Given the description of an element on the screen output the (x, y) to click on. 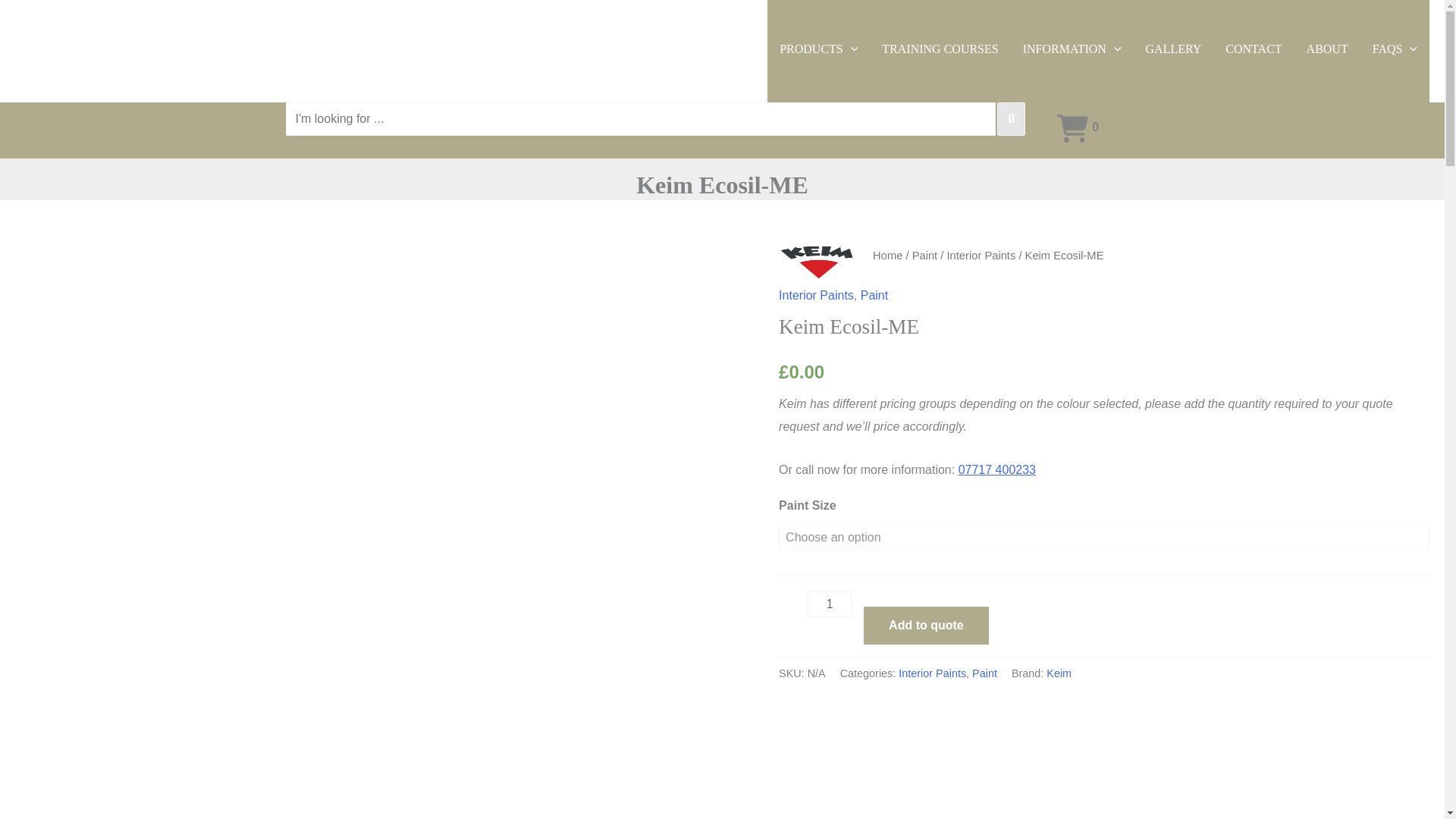
PRODUCTS (818, 51)
INFORMATION (1072, 51)
1 (829, 603)
TRAINING COURSES (939, 51)
